Given the description of an element on the screen output the (x, y) to click on. 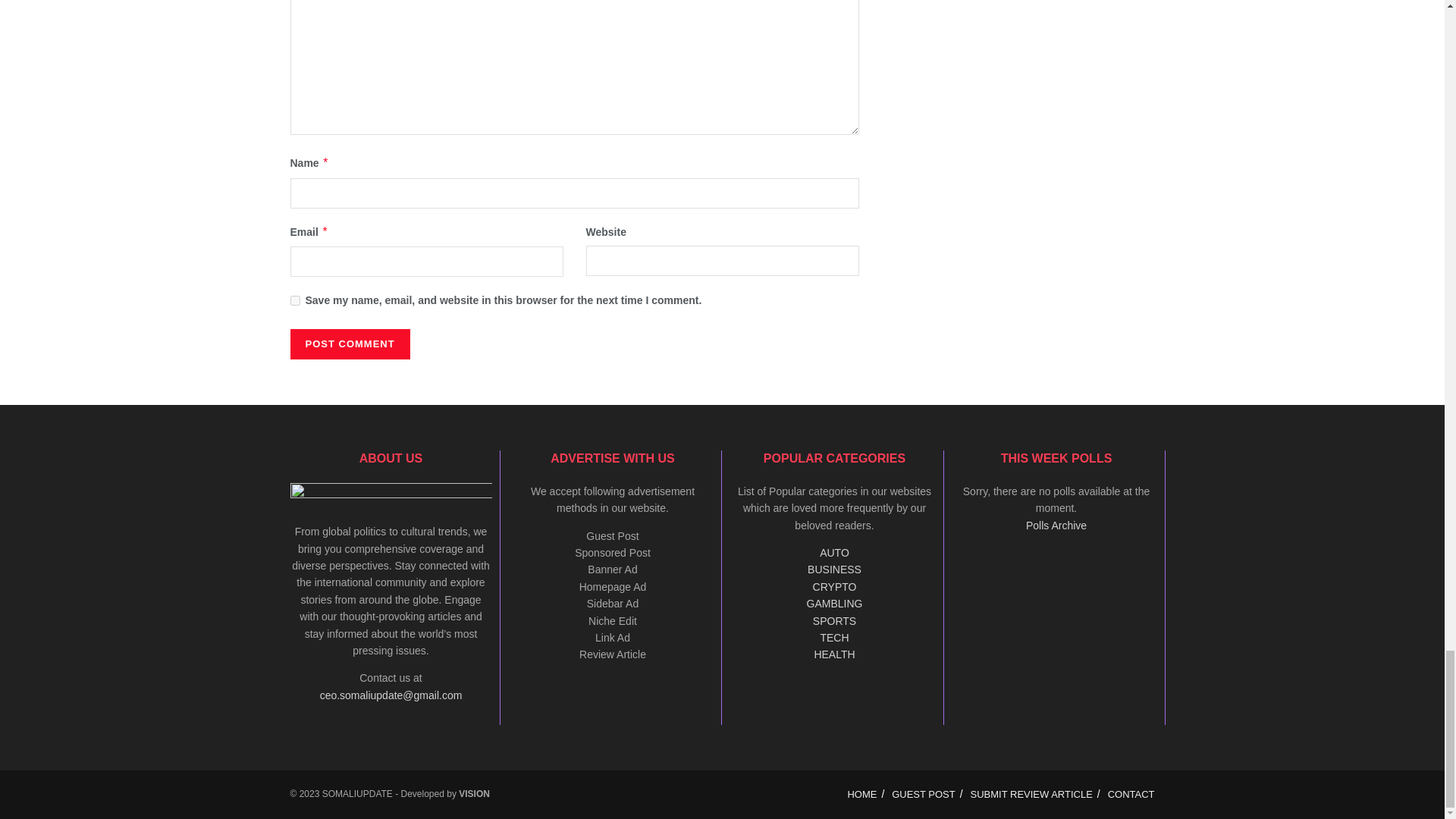
Post Comment (349, 344)
yes (294, 300)
